Given the description of an element on the screen output the (x, y) to click on. 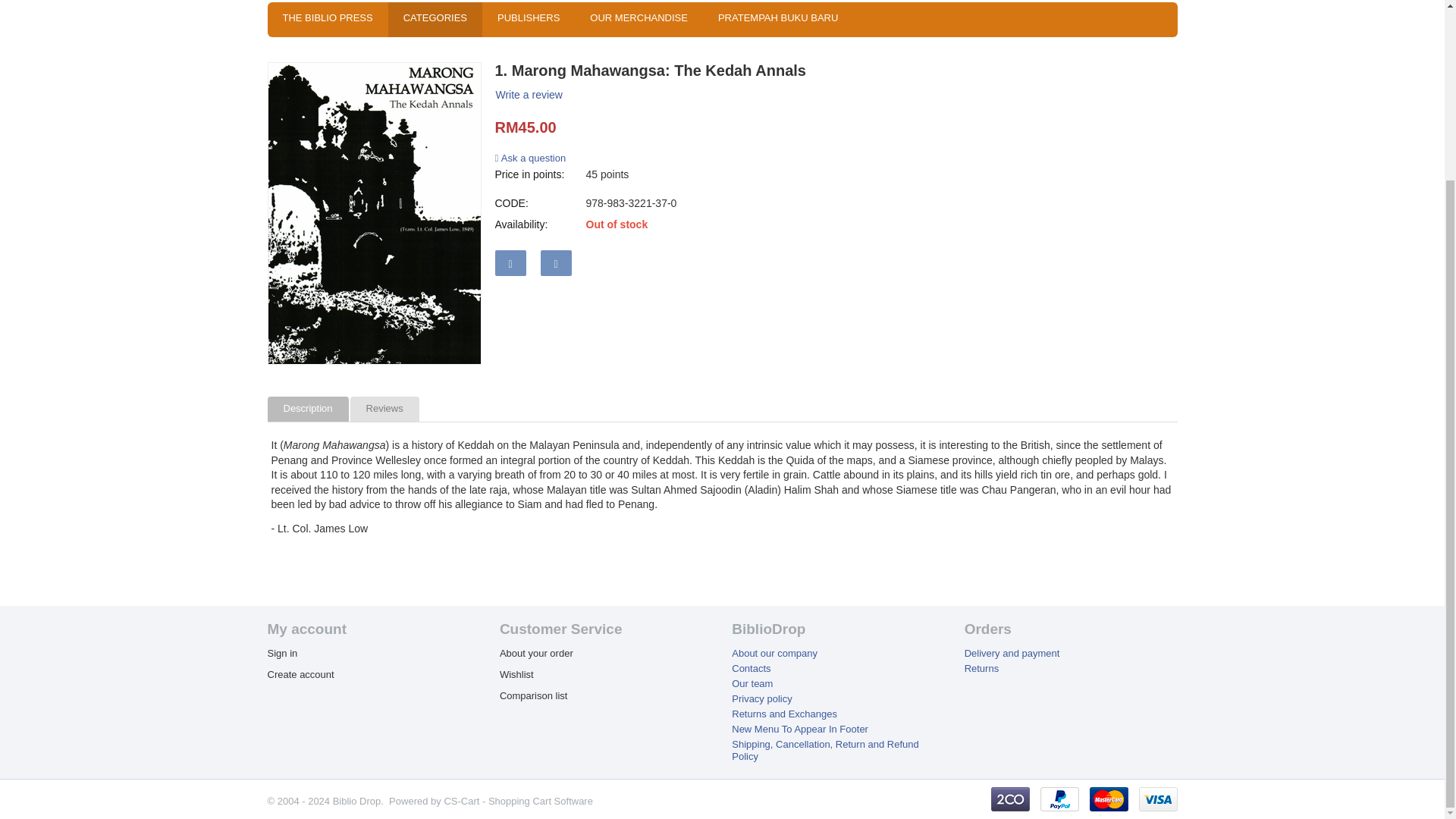
Write a review (528, 95)
Add to wish list (510, 263)
PUBLISHERS (528, 19)
Add to comparison list (556, 263)
THE BIBLIO PRESS (326, 19)
Ask a question (530, 157)
CATEGORIES (434, 19)
